Given the description of an element on the screen output the (x, y) to click on. 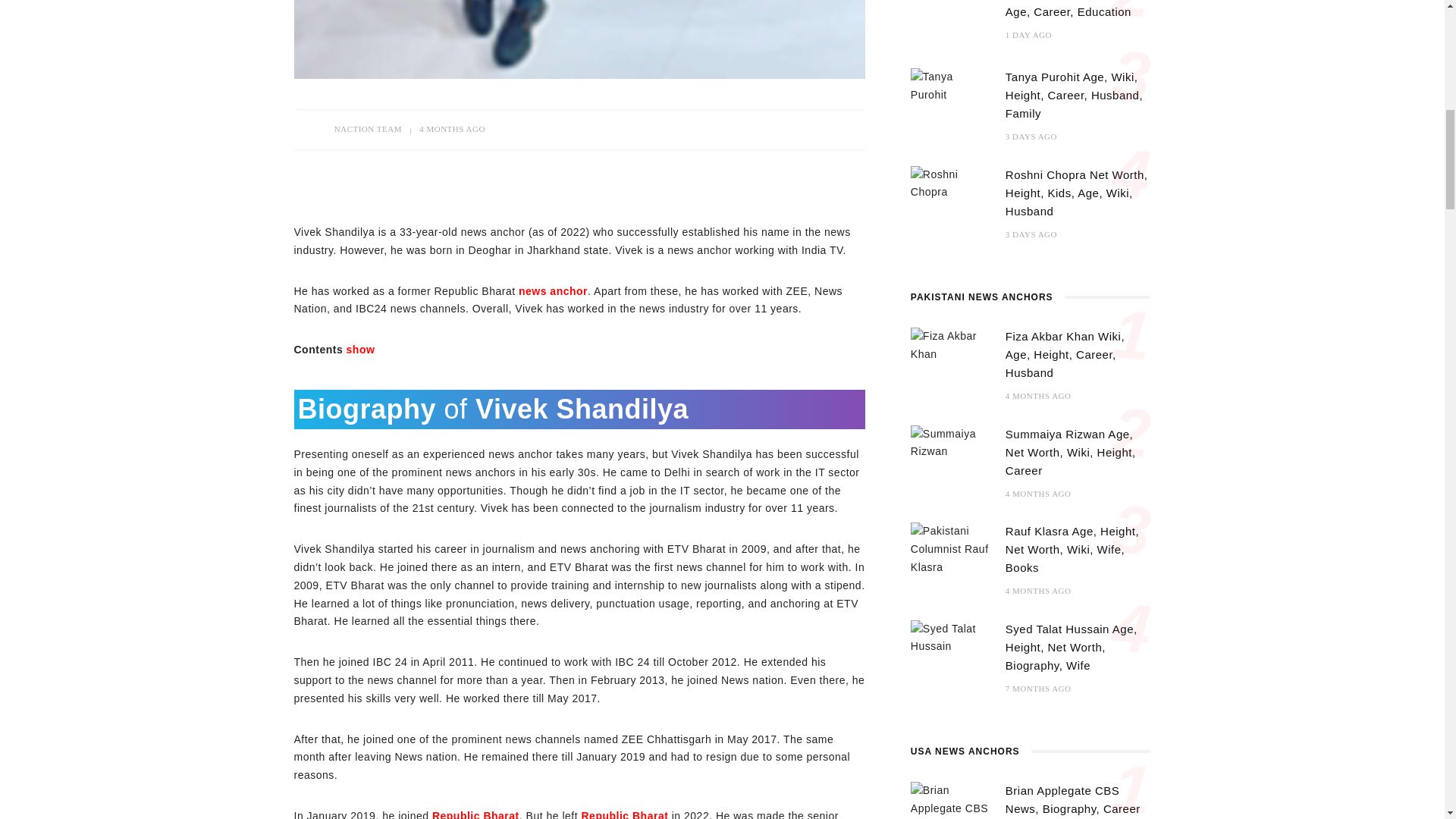
news anchor (553, 291)
Post by NACTION TEAM (367, 128)
Republic Bharat (475, 814)
